Given the description of an element on the screen output the (x, y) to click on. 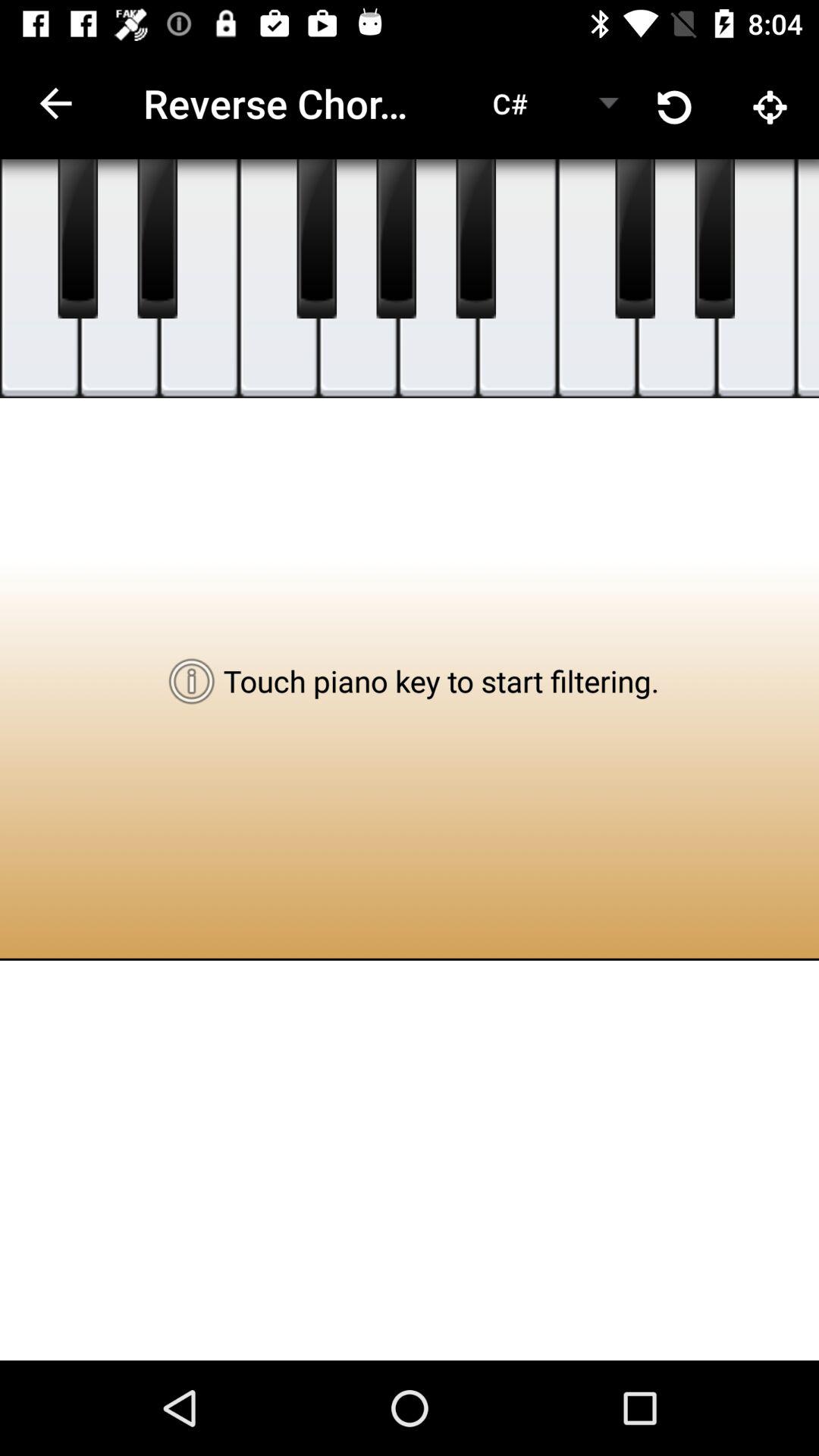
scroll until the c# icon (509, 103)
